Given the description of an element on the screen output the (x, y) to click on. 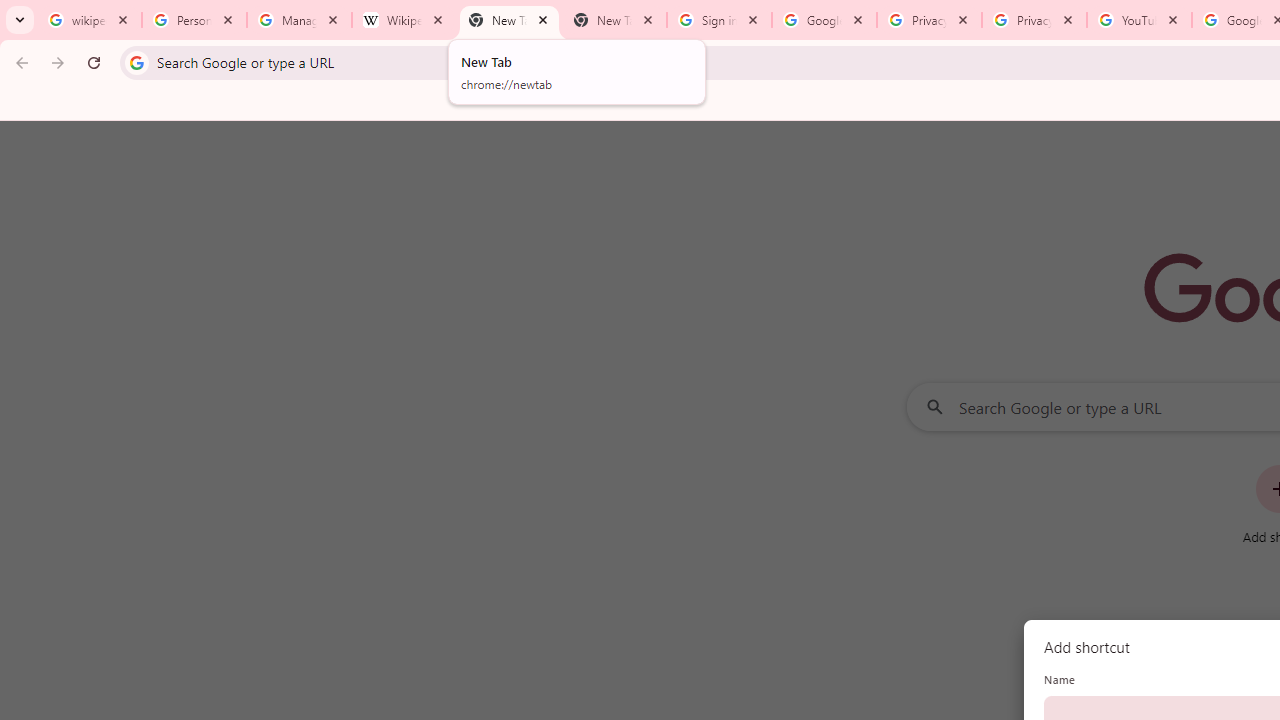
Search icon (136, 62)
Wikipedia:Edit requests - Wikipedia (404, 20)
Manage your Location History - Google Search Help (299, 20)
YouTube (1138, 20)
Personalization & Google Search results - Google Search Help (194, 20)
Sign in - Google Accounts (718, 20)
New Tab (613, 20)
